Given the description of an element on the screen output the (x, y) to click on. 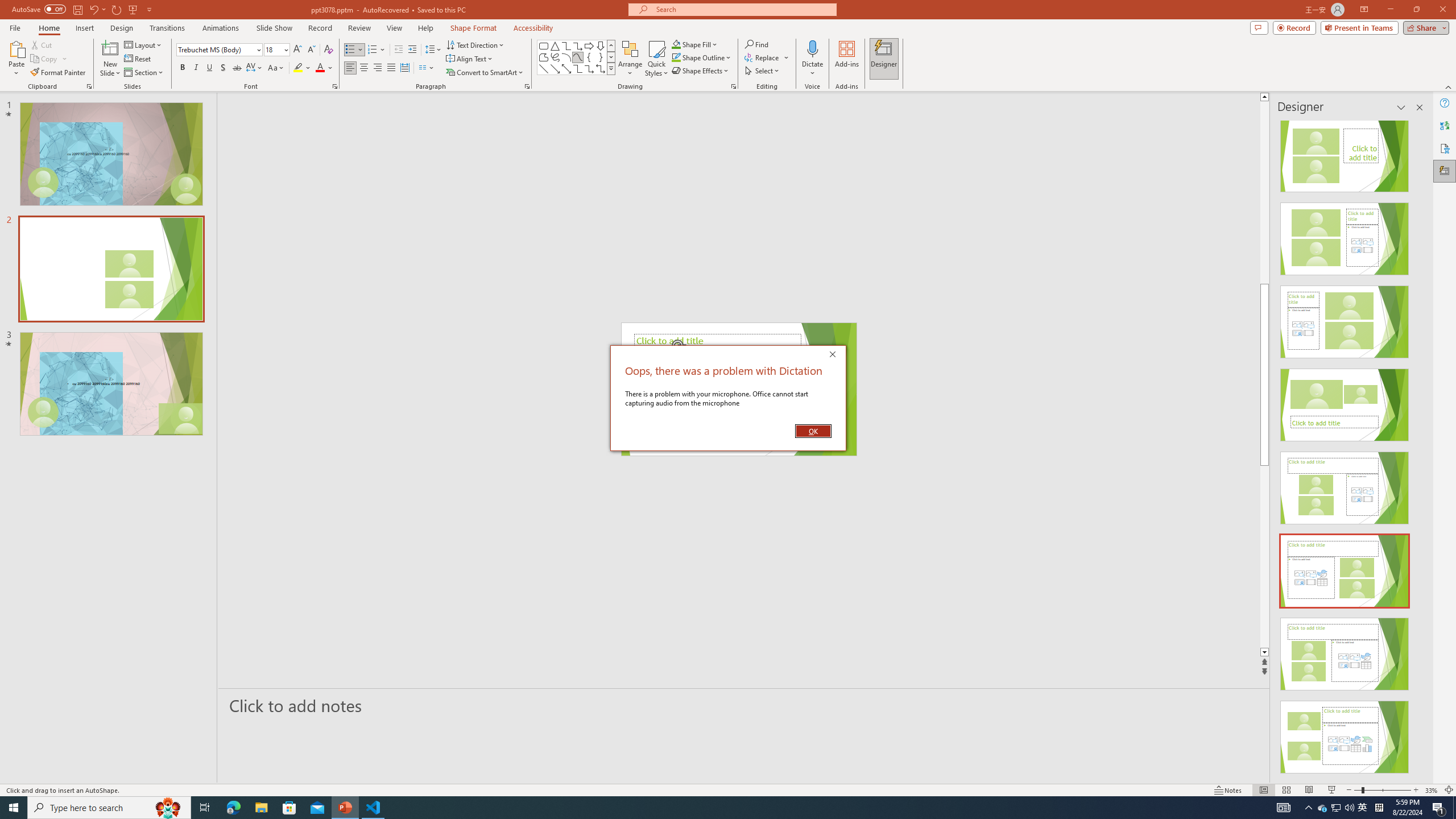
Connector: Elbow Double-Arrow (600, 68)
